Given the description of an element on the screen output the (x, y) to click on. 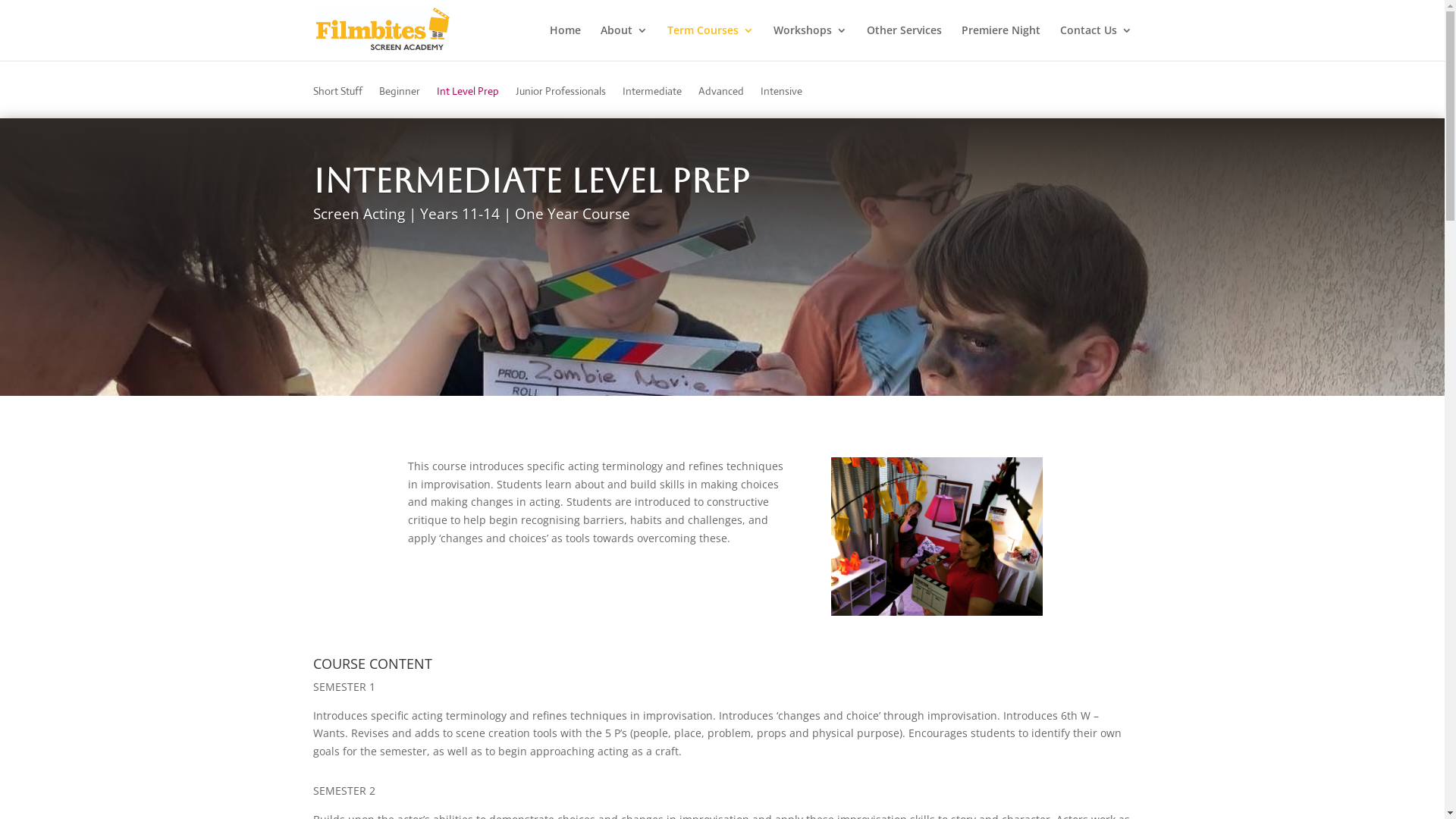
Contact Us Element type: text (1096, 42)
E9773D04-0EAF-4E93-B756-F6C719D6130B Element type: hover (936, 536)
Int Level Prep Element type: text (467, 101)
Beginner Element type: text (399, 101)
Short Stuff Element type: text (336, 101)
Other Services Element type: text (903, 42)
Intermediate Element type: text (650, 101)
Premiere Night Element type: text (1000, 42)
Intensive Element type: text (780, 101)
Junior Professionals Element type: text (560, 101)
Advanced Element type: text (720, 101)
Home Element type: text (564, 42)
Term Courses Element type: text (710, 42)
About Element type: text (623, 42)
Workshops Element type: text (810, 42)
